Given the description of an element on the screen output the (x, y) to click on. 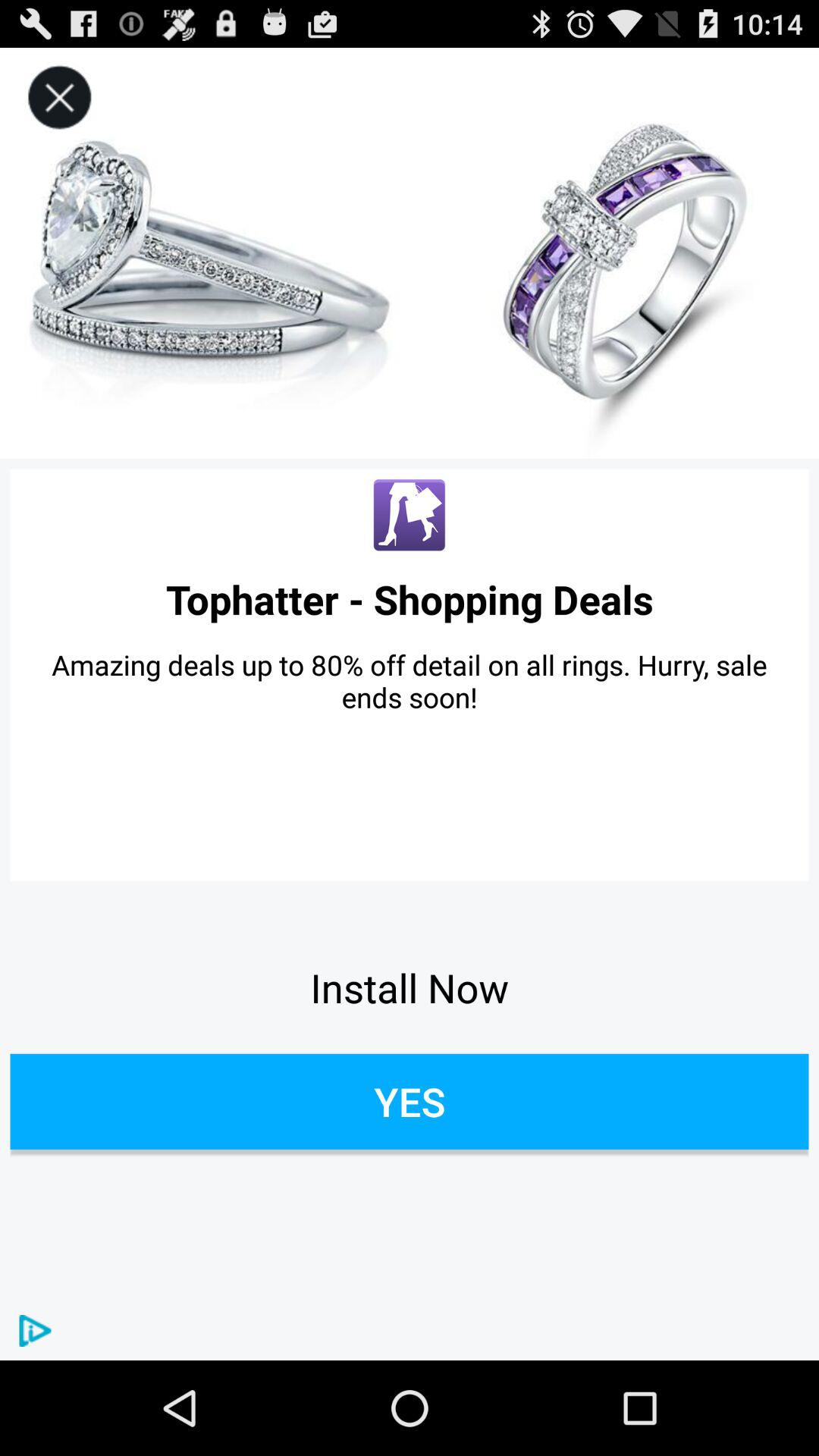
flip until the install now (409, 987)
